Given the description of an element on the screen output the (x, y) to click on. 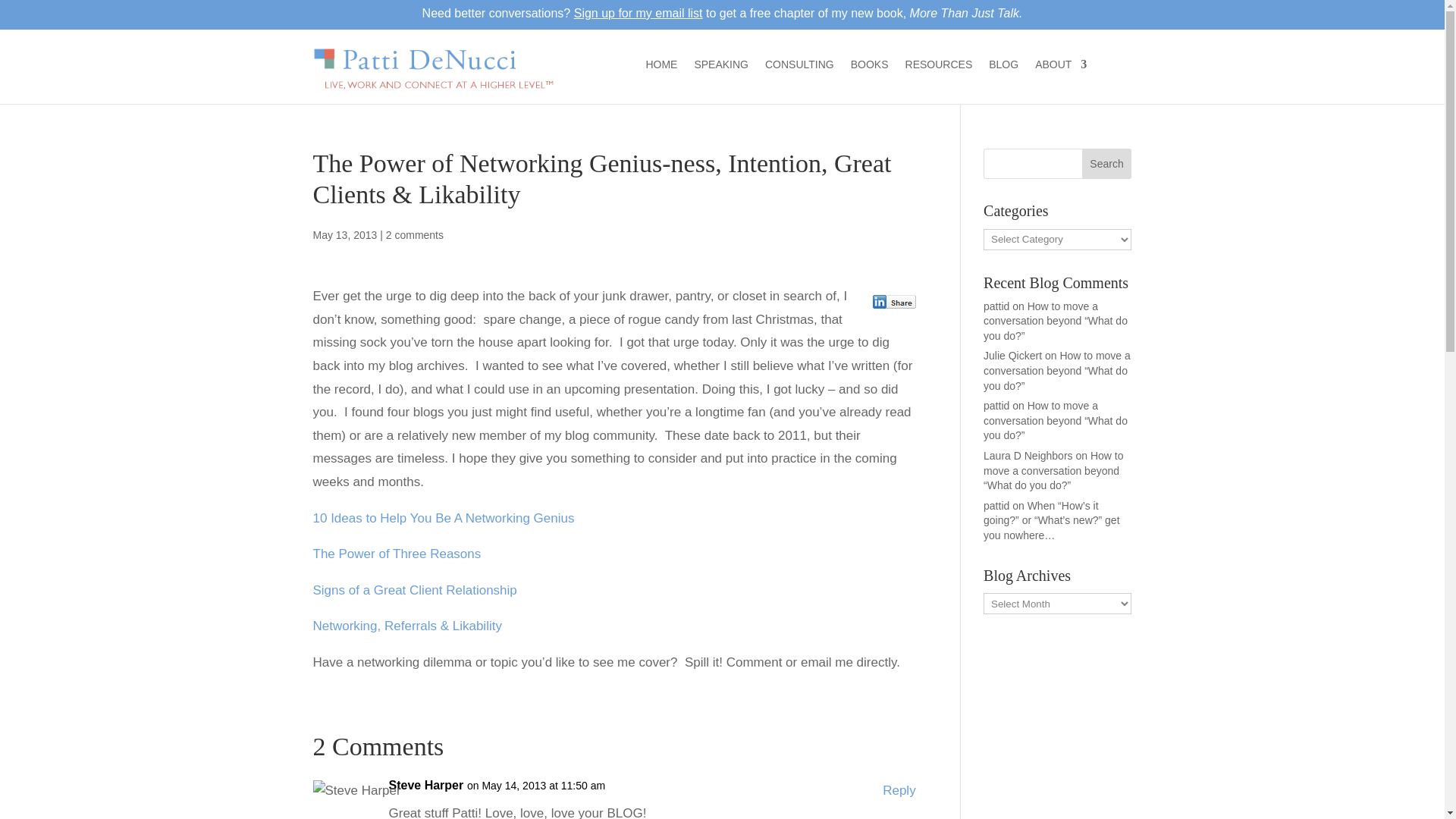
Julie Qickert (1013, 355)
HOME (661, 67)
SPEAKING (721, 67)
Sign up for my email list (638, 12)
ABOUT (1060, 67)
10 Ideas to Help You Be A Networking Genius (443, 518)
Signs of a Great Client Relationship (414, 590)
Steve Harper (425, 785)
Search (1106, 163)
2 comments (414, 234)
